Given the description of an element on the screen output the (x, y) to click on. 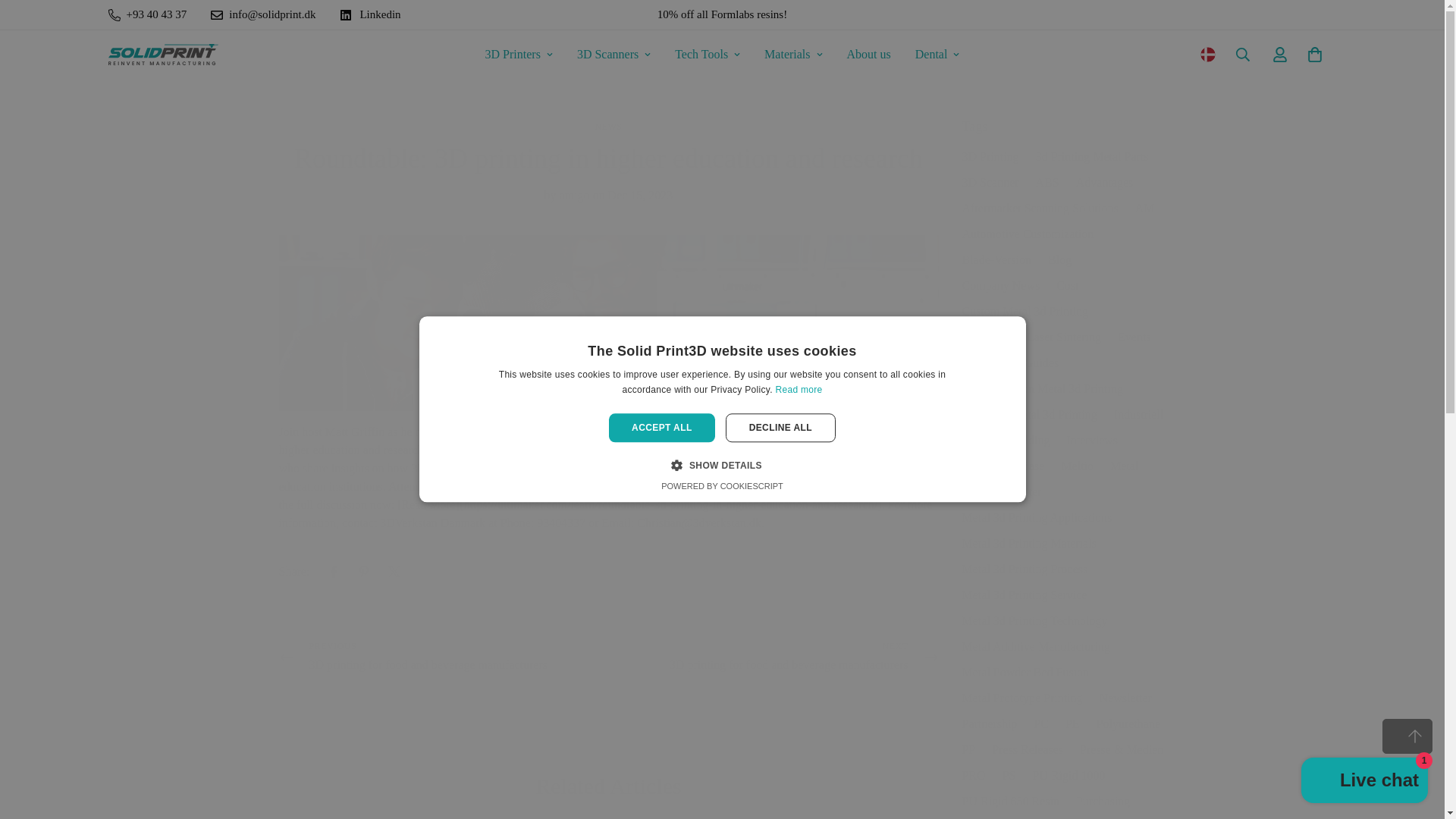
Solid Print3D Danmark (161, 54)
Linkedin (376, 14)
Consent Management Platform (722, 486)
Shopify online store chat (1364, 781)
